Given the description of an element on the screen output the (x, y) to click on. 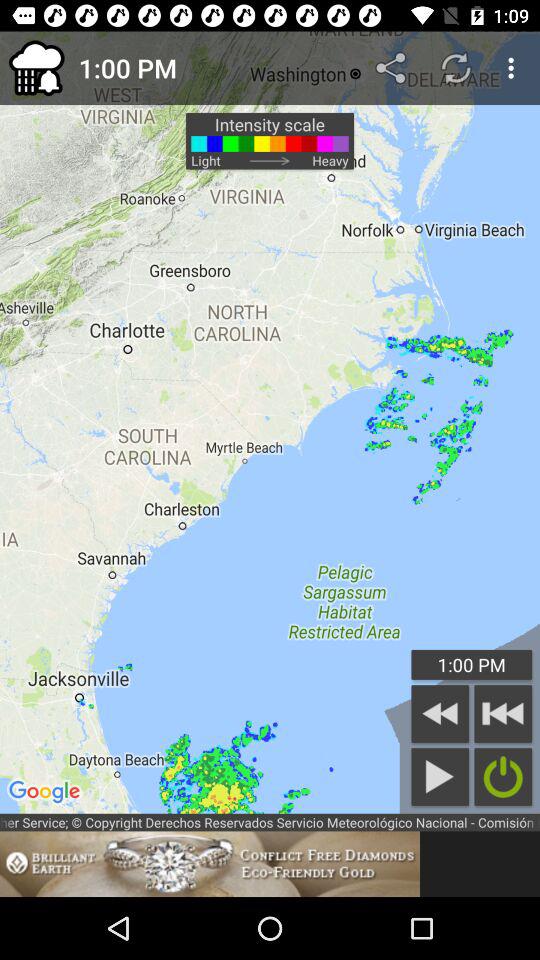
click to fast backward (503, 713)
